Given the description of an element on the screen output the (x, y) to click on. 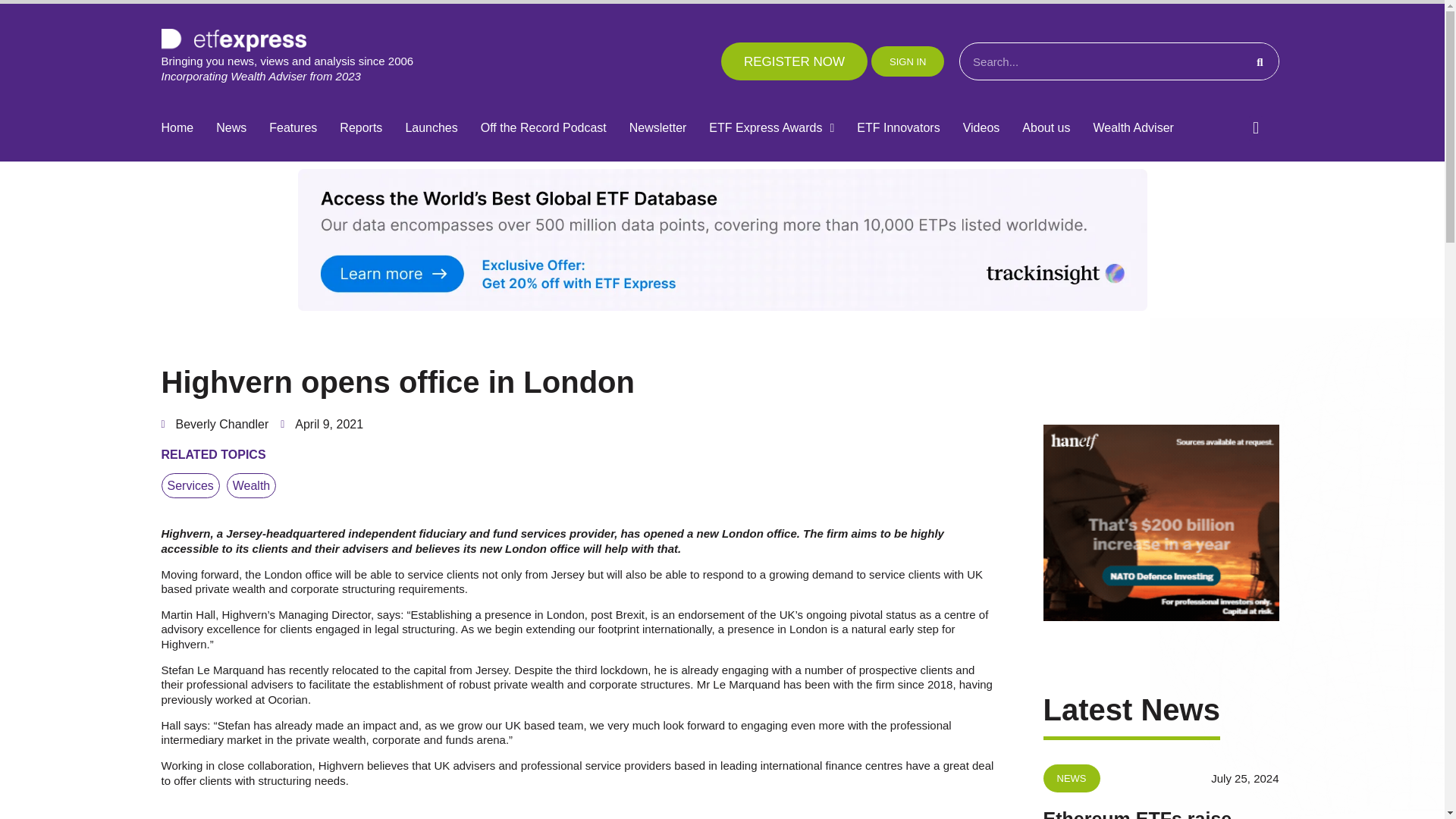
REGISTER NOW (793, 61)
SIGN IN (906, 60)
